Given the description of an element on the screen output the (x, y) to click on. 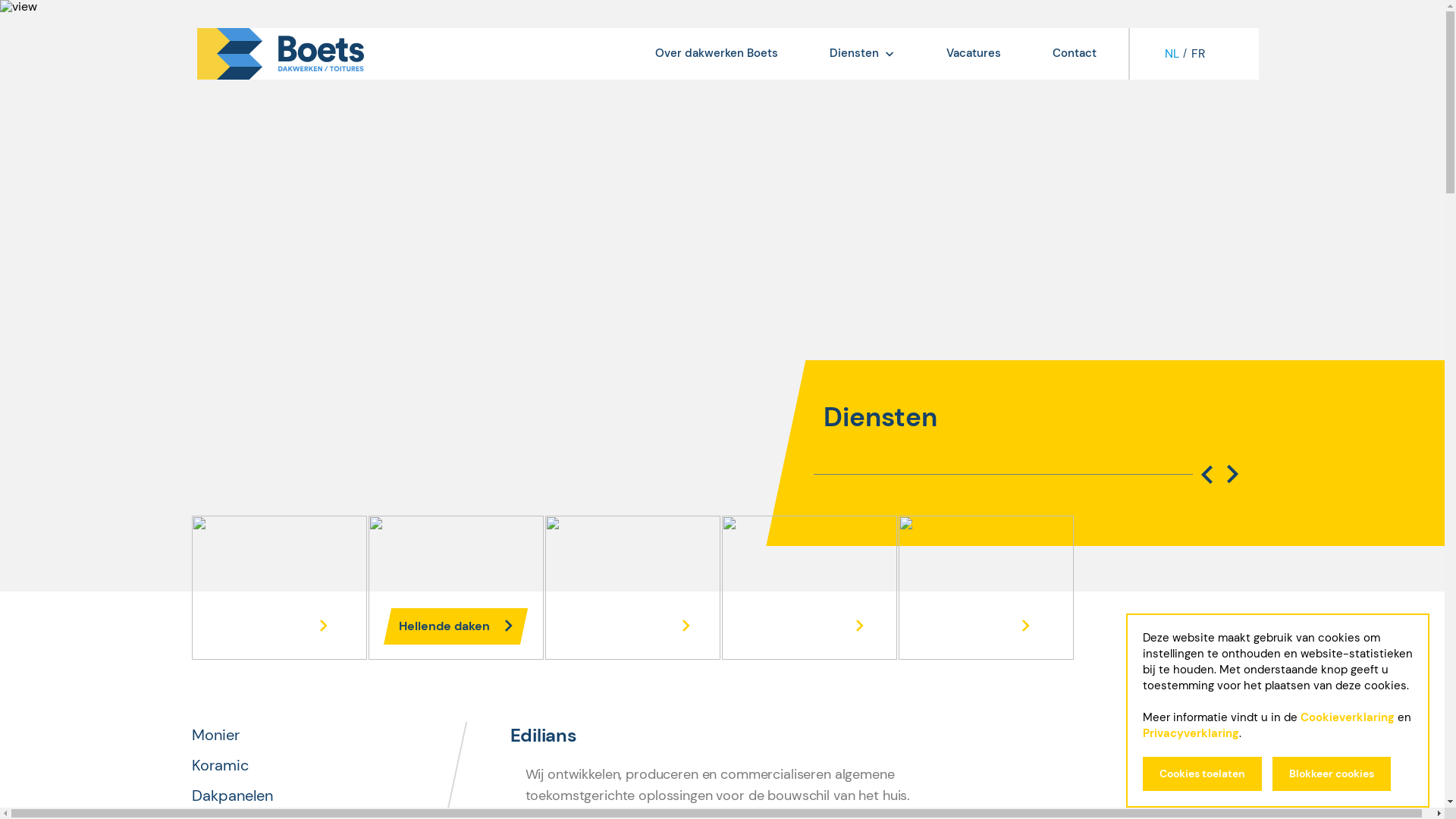
Gevelbekleding Element type: text (631, 587)
Cookies toelaten Element type: text (1201, 773)
Monier Element type: text (214, 734)
Isolatiewerken Element type: text (809, 587)
Koramic Element type: text (219, 765)
NL Element type: text (1171, 53)
Daktimmer Element type: text (985, 587)
Privacyverklaring Element type: text (1190, 732)
Vacatures Element type: text (973, 53)
Over dakwerken Boets Element type: text (716, 53)
Cookieverklaring Element type: text (1347, 716)
Hellende daken Element type: text (455, 587)
FR Element type: text (1197, 53)
Platte daken Element type: text (278, 587)
Blokkeer cookies Element type: text (1331, 773)
Diensten Element type: text (861, 53)
Contact Element type: text (1074, 53)
